Given the description of an element on the screen output the (x, y) to click on. 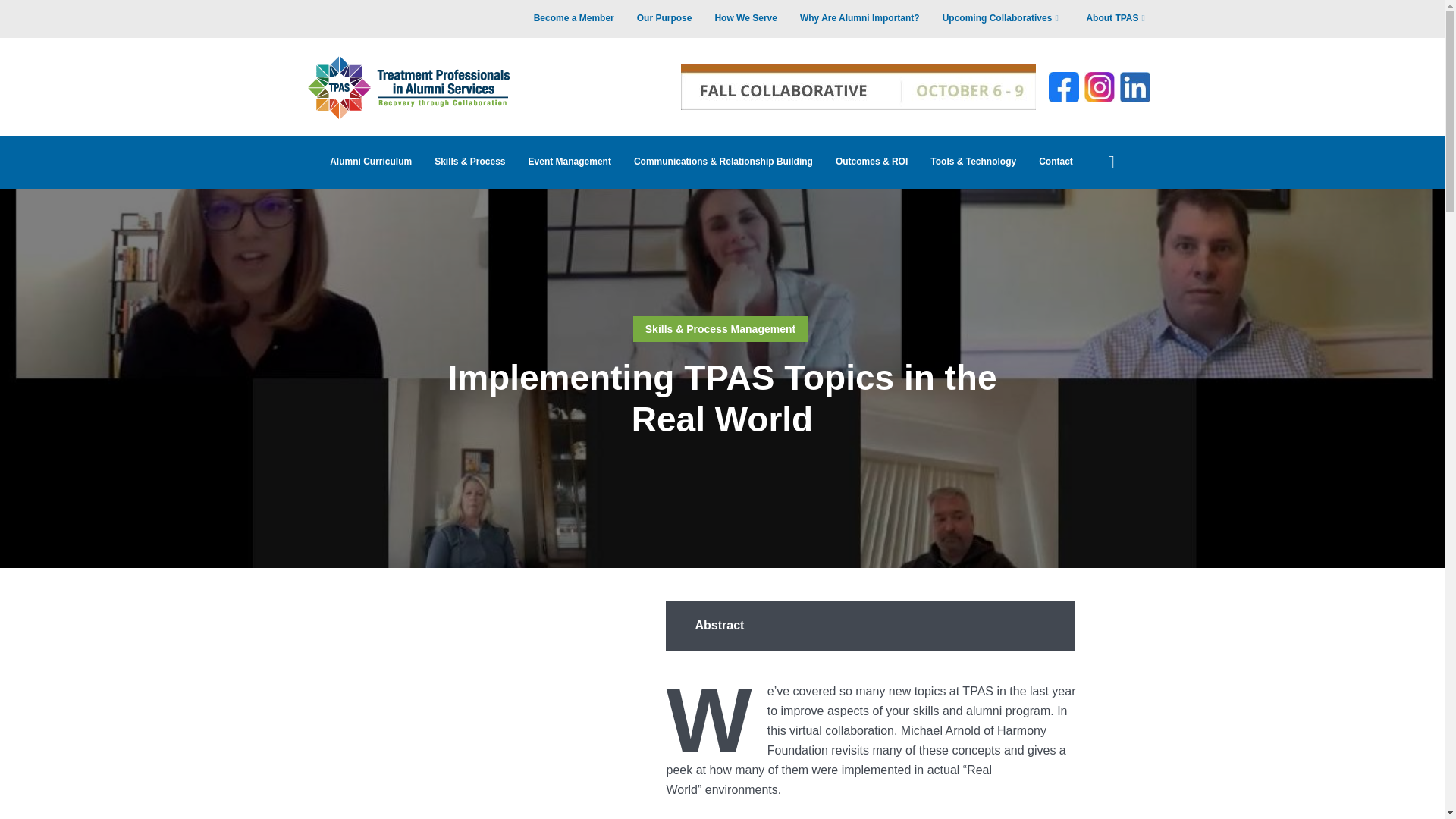
Upcoming Collaboratives (1003, 18)
Become a Member (574, 18)
Alumni Curriculum (371, 161)
How We Serve (745, 18)
Our Purpose (665, 18)
Event Management (569, 161)
Why Are Alumni Important? (859, 18)
Contact (1056, 161)
About TPAS (1118, 18)
